Given the description of an element on the screen output the (x, y) to click on. 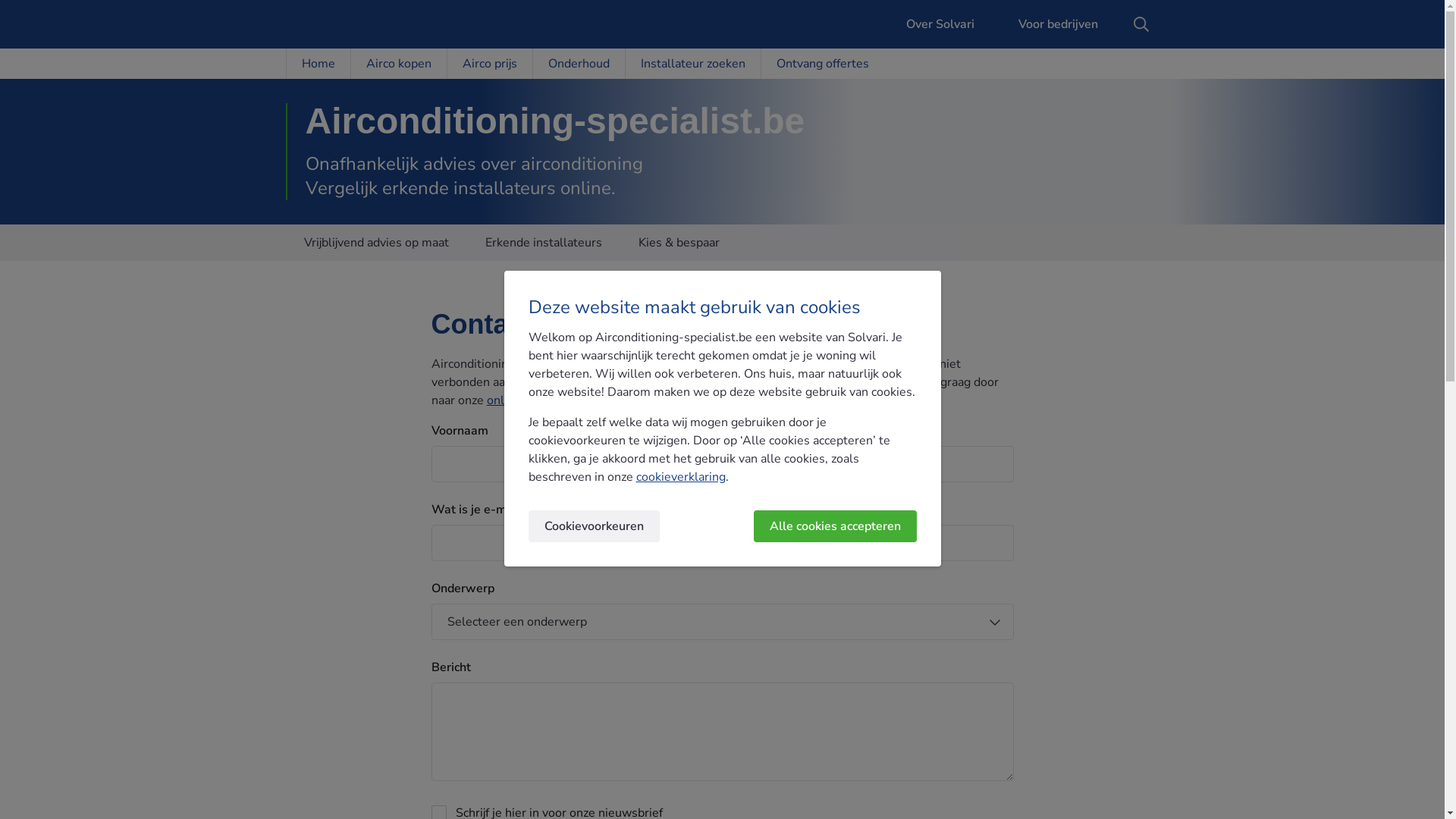
Alle cookies accepteren Element type: text (834, 526)
cookieverklaring Element type: text (679, 476)
Voor bedrijven Element type: text (1048, 24)
Ontvang offertes Element type: text (821, 63)
Onderhoud Element type: text (578, 63)
Home Element type: text (317, 63)
Installateur zoeken Element type: text (692, 63)
Airco prijs Element type: text (488, 63)
Airco kopen Element type: text (398, 63)
online offerteservice. Element type: text (544, 399)
Over Solvari Element type: text (931, 24)
Cookievoorkeuren Element type: text (592, 526)
